Given the description of an element on the screen output the (x, y) to click on. 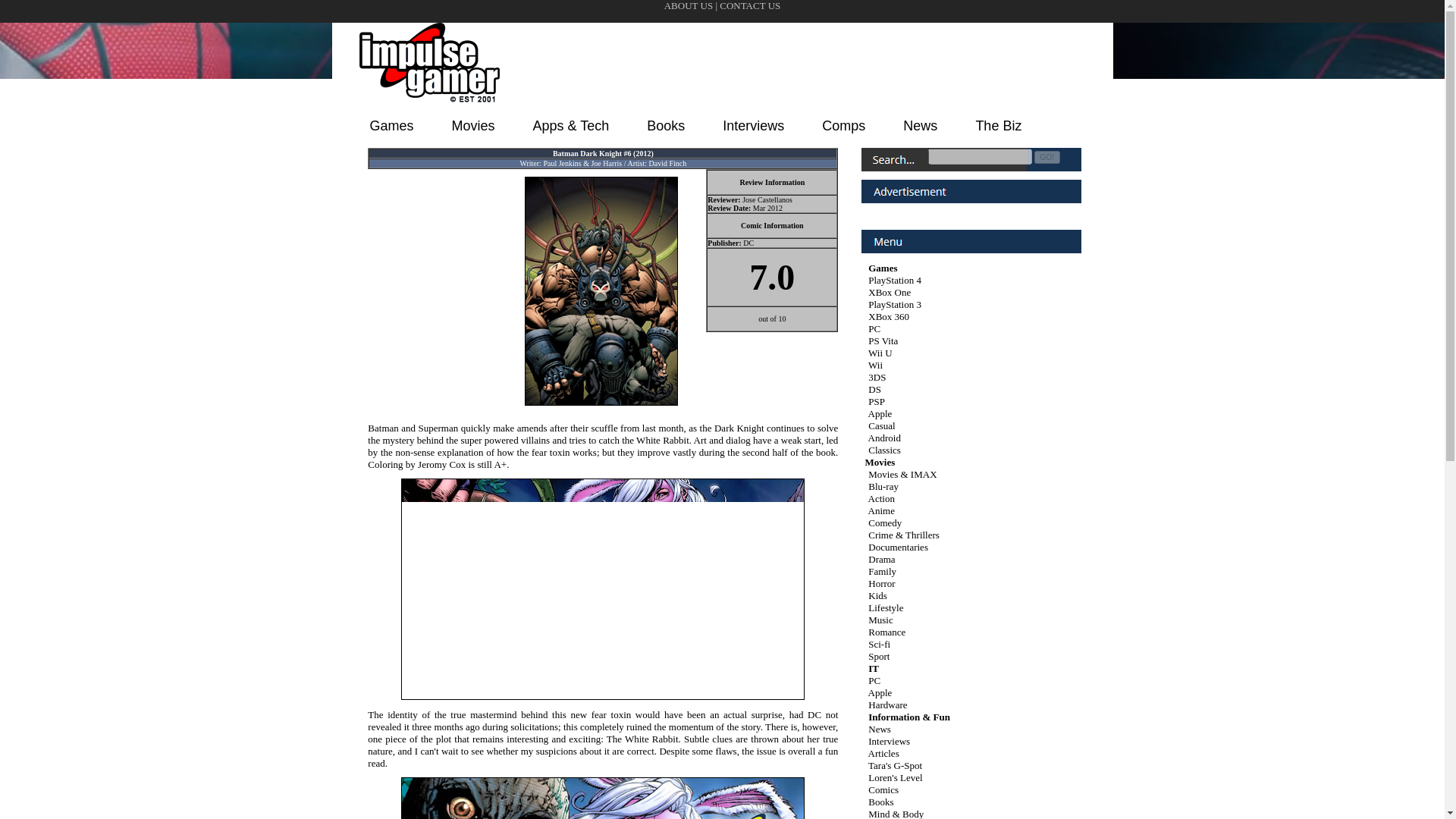
CONTACT US (749, 11)
Movies (472, 126)
GO! (1046, 156)
ABOUT US (688, 5)
Games (391, 126)
